Given the description of an element on the screen output the (x, y) to click on. 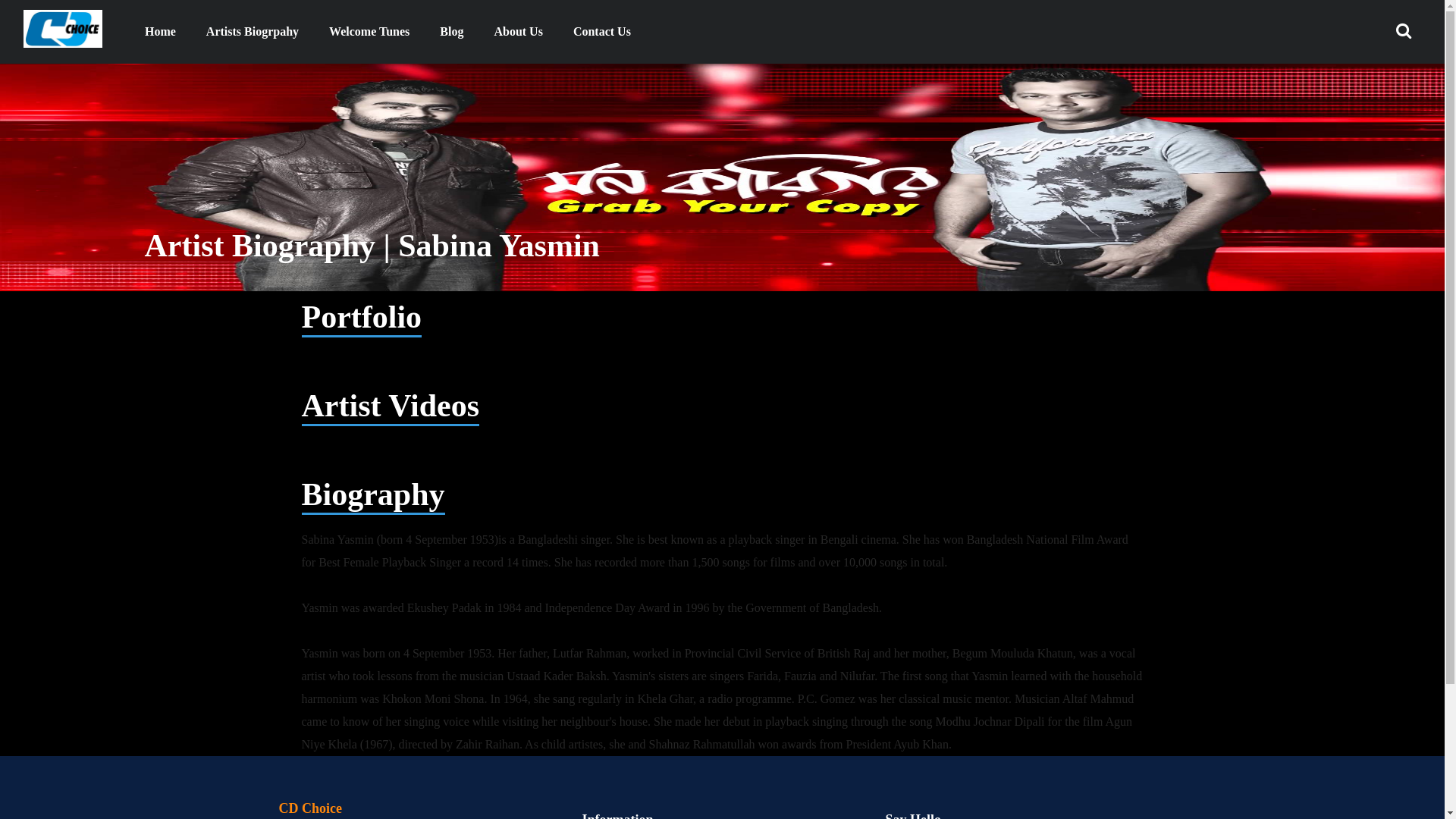
About Us Element type: text (517, 31)
Blog Element type: text (451, 31)
Home
(current) Element type: text (160, 31)
Artists Biogrpahy Element type: text (252, 31)
Welcome Tunes Element type: text (368, 31)
Contact Us Element type: text (602, 31)
